Given the description of an element on the screen output the (x, y) to click on. 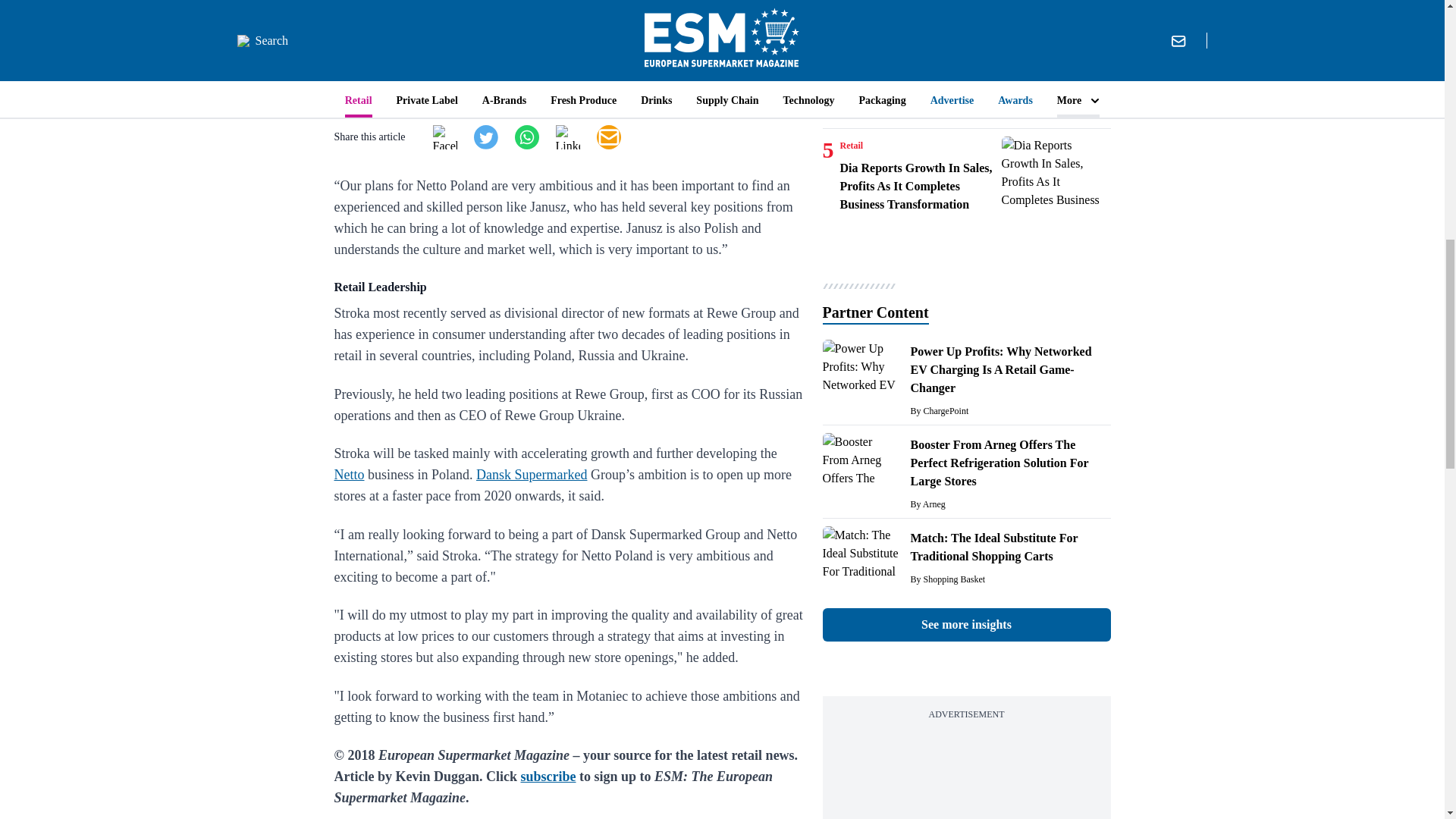
Dansk Supermarked (531, 474)
Netto (348, 474)
